Given the description of an element on the screen output the (x, y) to click on. 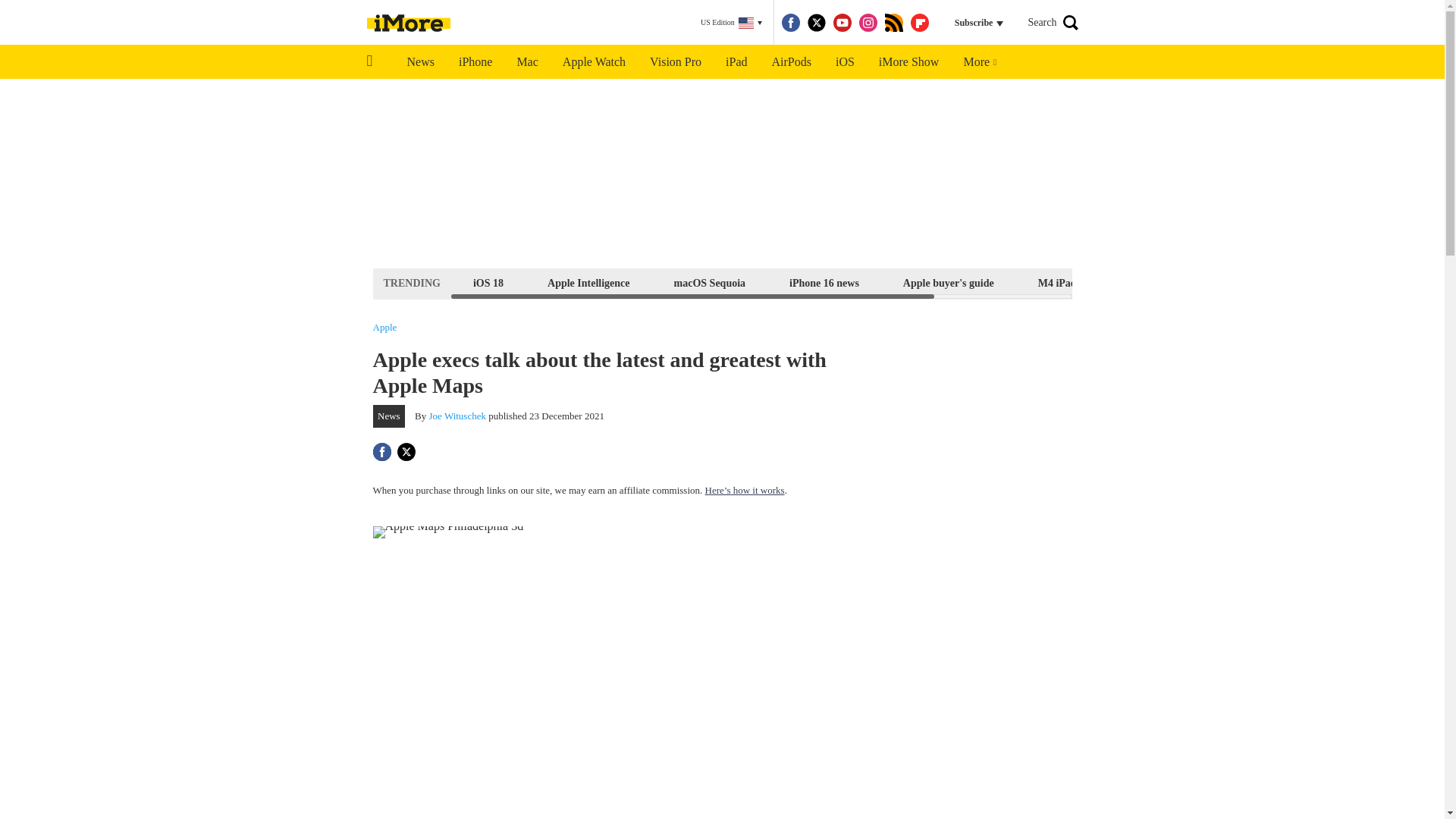
Mac (526, 61)
AirPods (792, 61)
Vision Pro (675, 61)
iMore Show (909, 61)
US Edition (731, 22)
Apple Watch (593, 61)
iPhone (474, 61)
iOS (845, 61)
News (419, 61)
iPad (735, 61)
